Given the description of an element on the screen output the (x, y) to click on. 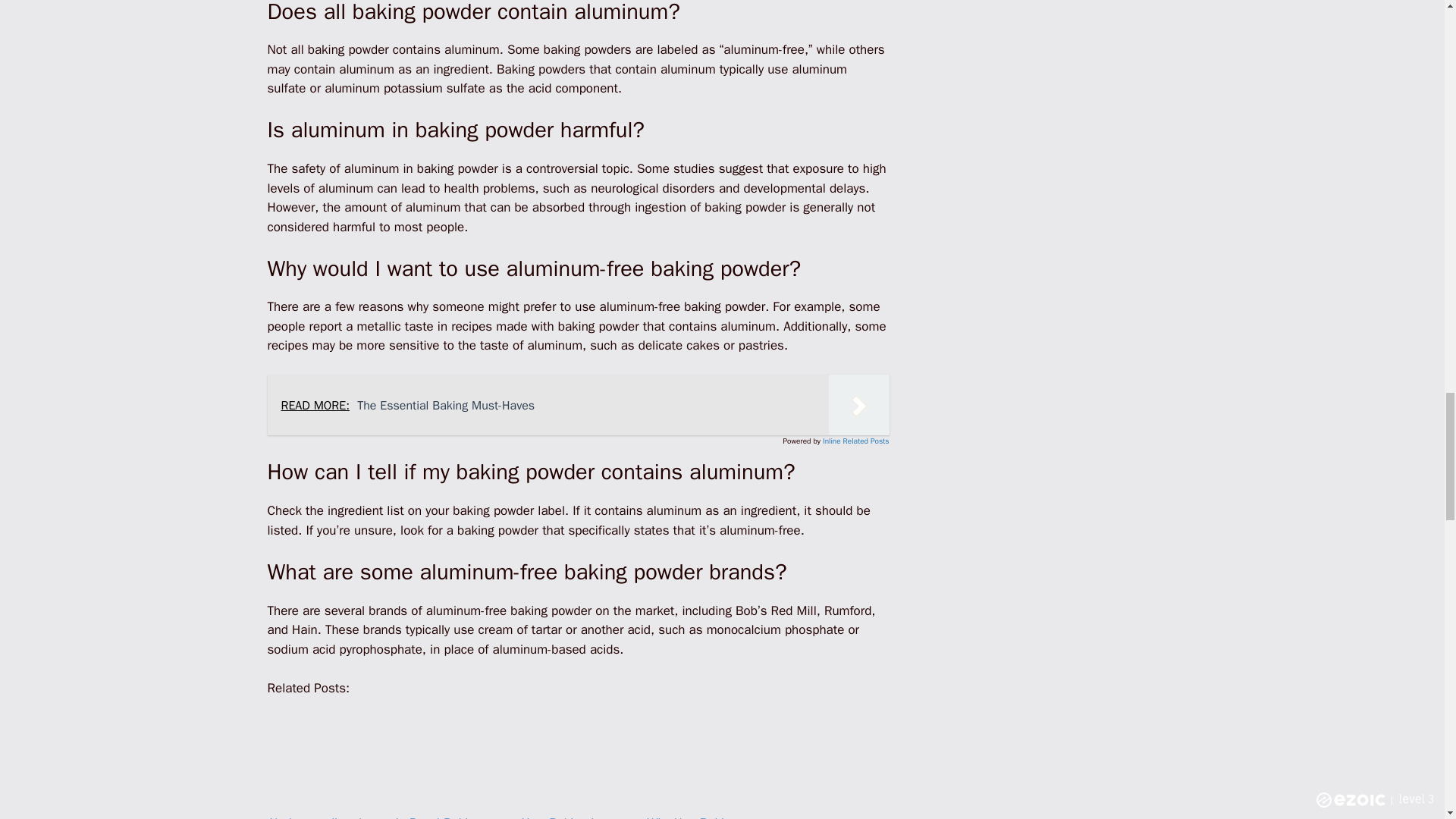
Why Use Baking Powder: A Comprehensive Guide (703, 758)
READ MORE:  The Essential Baking Must-Haves (577, 404)
How Baking is Science (577, 758)
How Baking is Science (577, 757)
Understanding the Concept of Baking Soda (326, 757)
Is Royal Baking Powder: Everything You Need to Know (452, 757)
Is Royal Baking Powder: Everything You Need to Know (452, 758)
Inline Related Posts (855, 440)
Why Use Baking Powder: A Comprehensive Guide (704, 757)
Understanding the Concept of Baking Soda (325, 758)
